Given the description of an element on the screen output the (x, y) to click on. 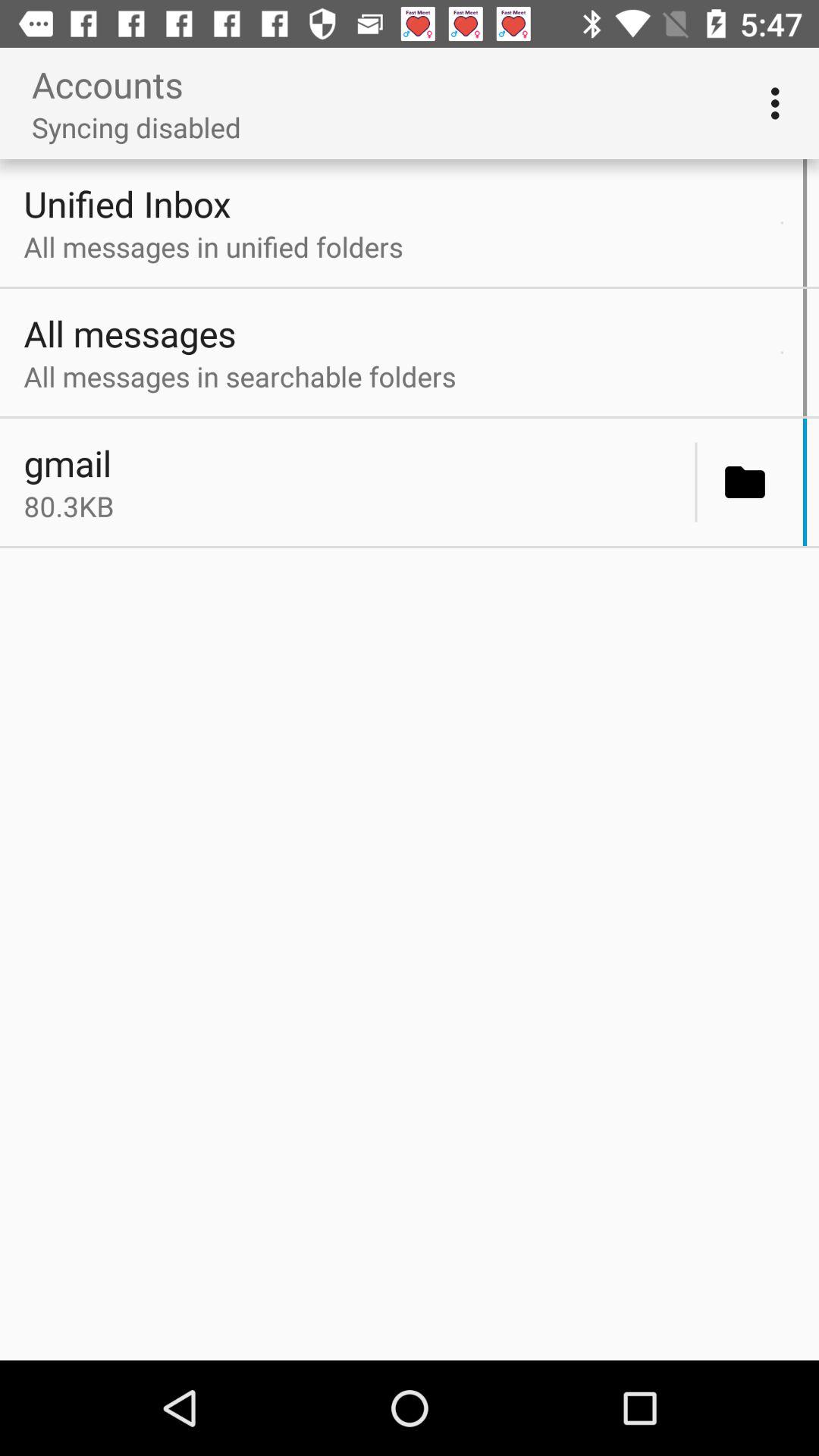
jump to the gmail (355, 463)
